Given the description of an element on the screen output the (x, y) to click on. 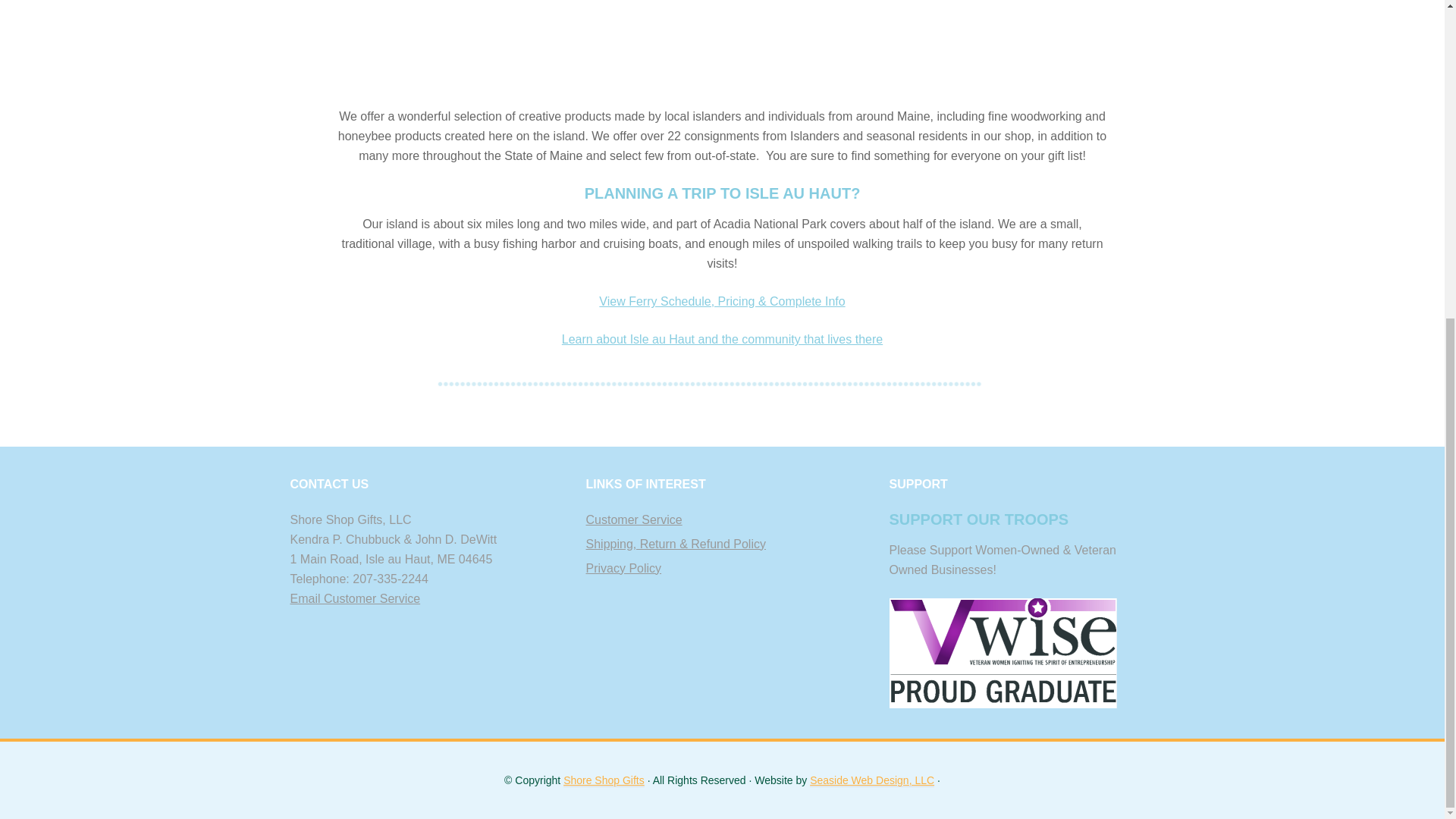
Privacy Policy (623, 567)
Shore Shop Gifts (604, 780)
Customer Service (633, 519)
Learn about Isle au Haut and the community that lives there (722, 338)
Shore Shop Gifts (722, 382)
Email Customer Service (354, 598)
Seaside Web Design, LLC (871, 780)
